Given the description of an element on the screen output the (x, y) to click on. 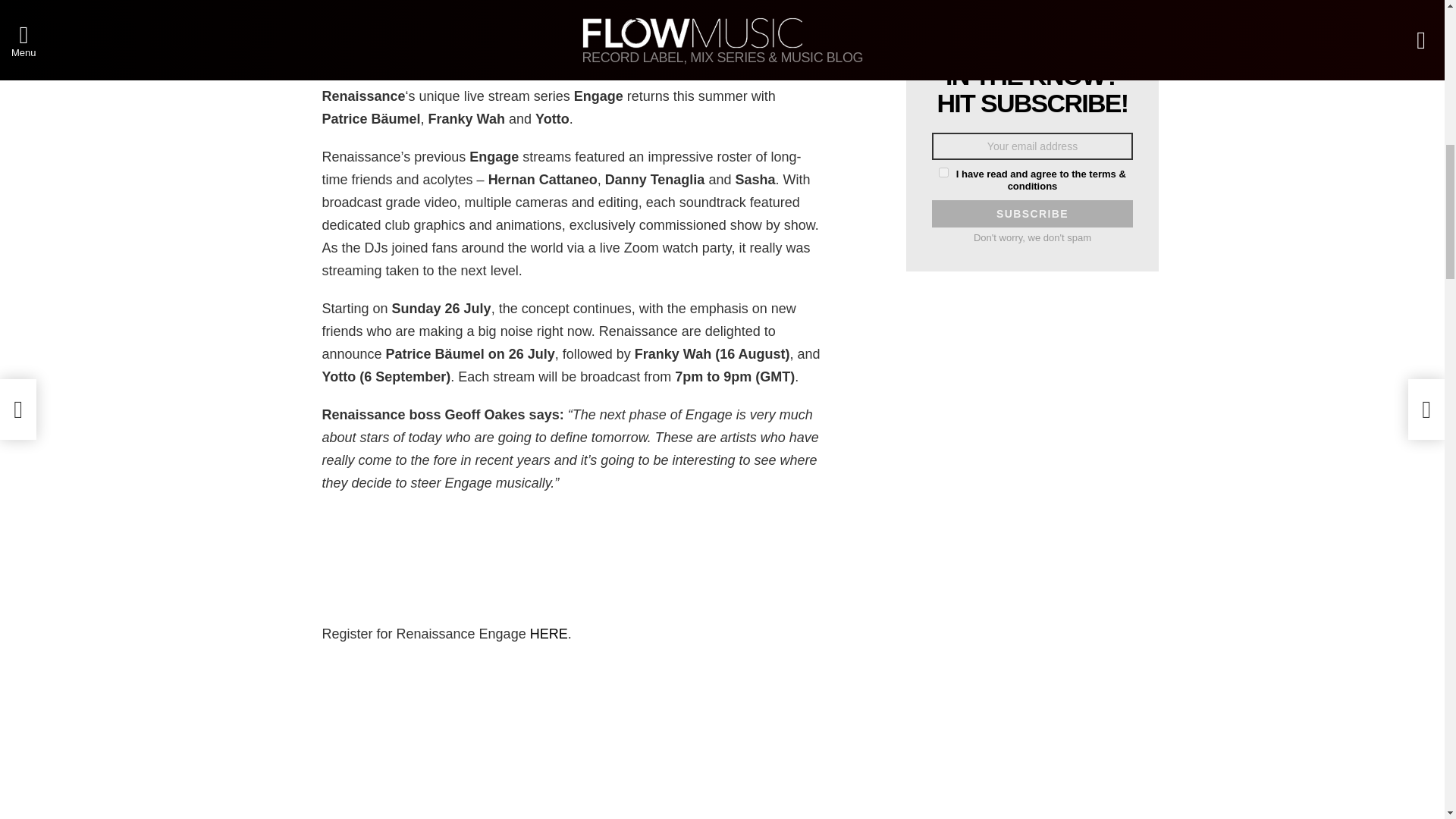
23 July 2020, 2:19 pm (314, 7)
SUBSCRIBE (1031, 213)
1 (944, 172)
